Given the description of an element on the screen output the (x, y) to click on. 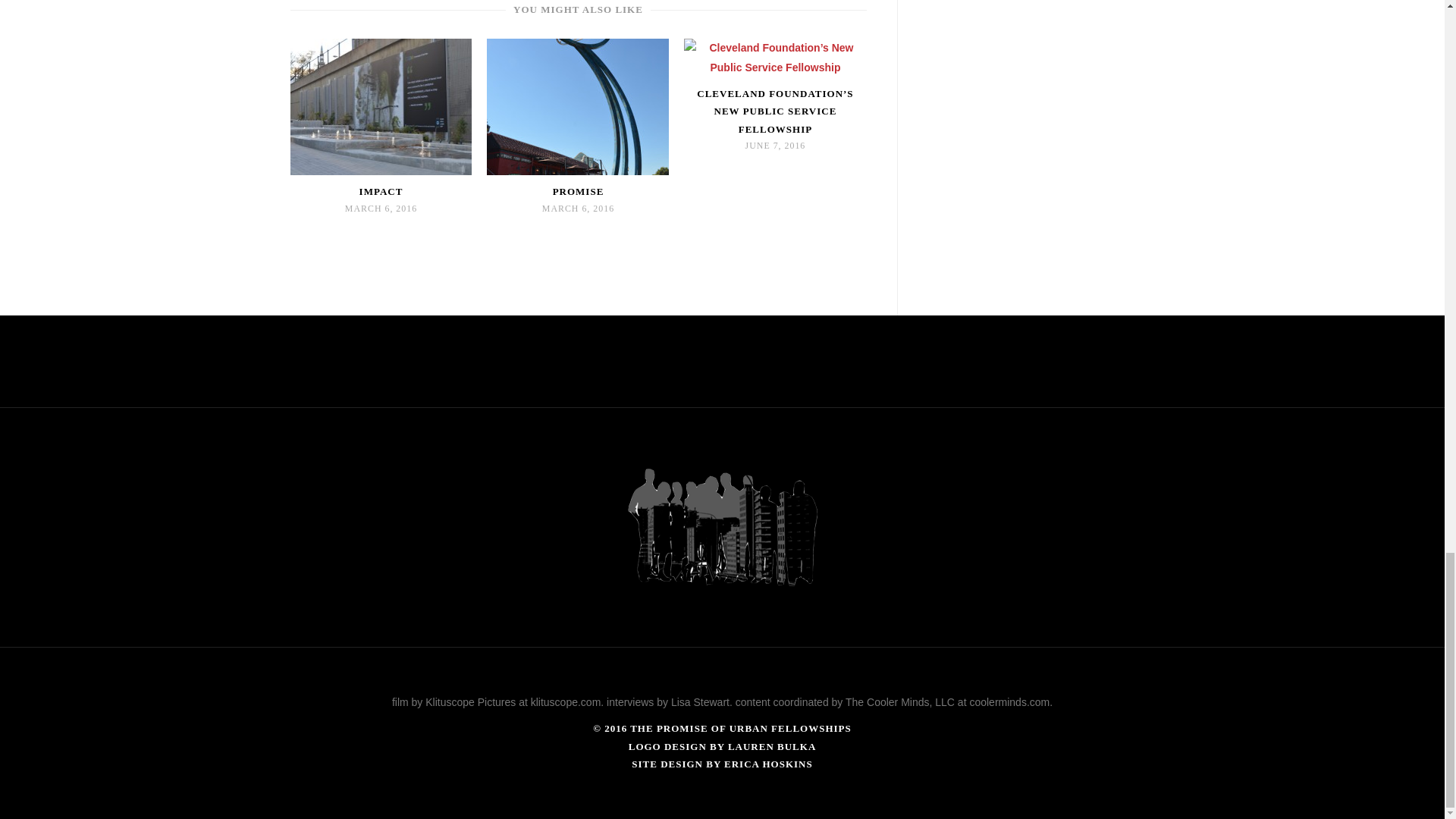
IMPACT (380, 190)
